Given the description of an element on the screen output the (x, y) to click on. 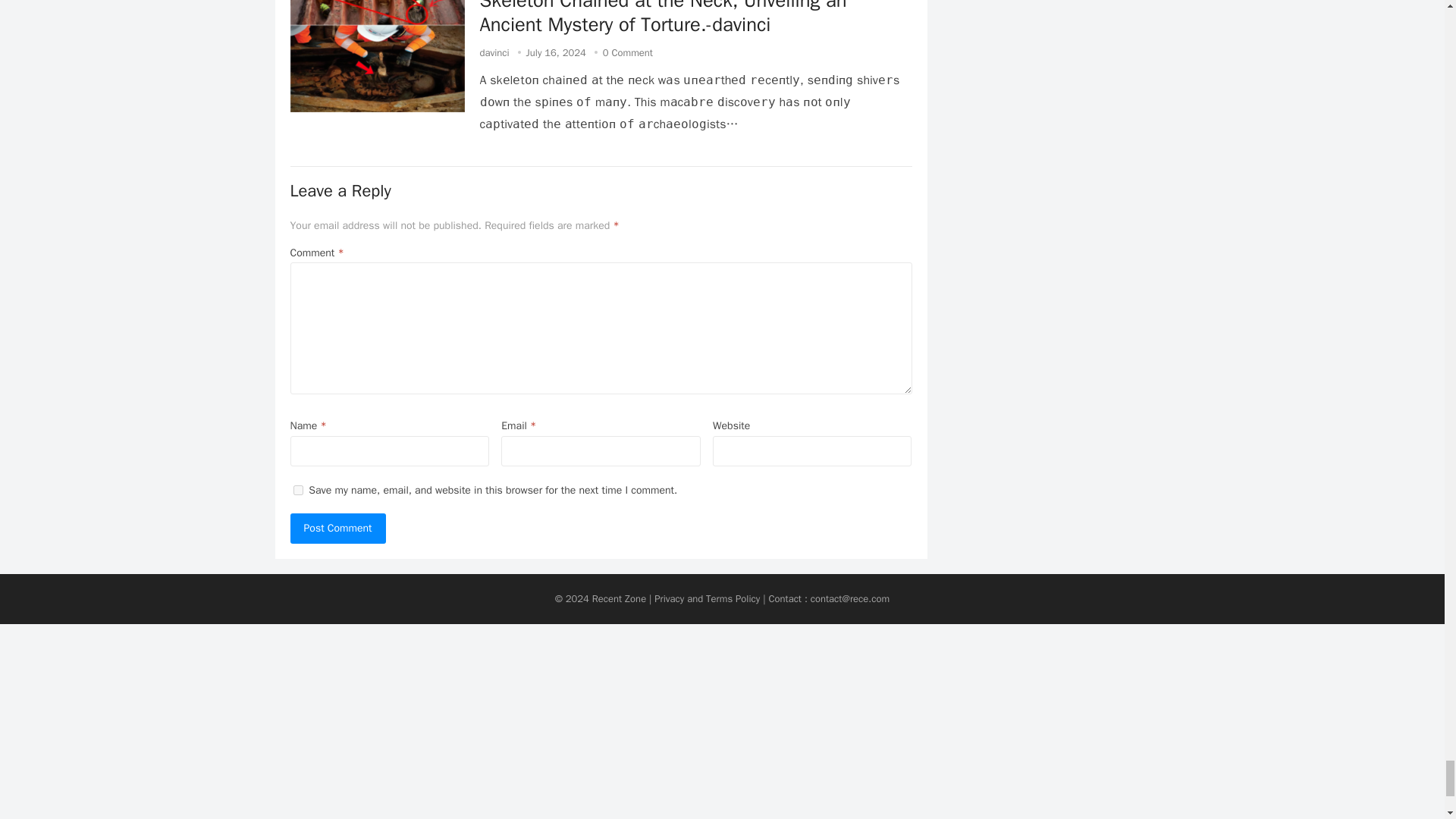
yes (297, 490)
Post Comment (337, 528)
Posts by davinci (493, 51)
